Given the description of an element on the screen output the (x, y) to click on. 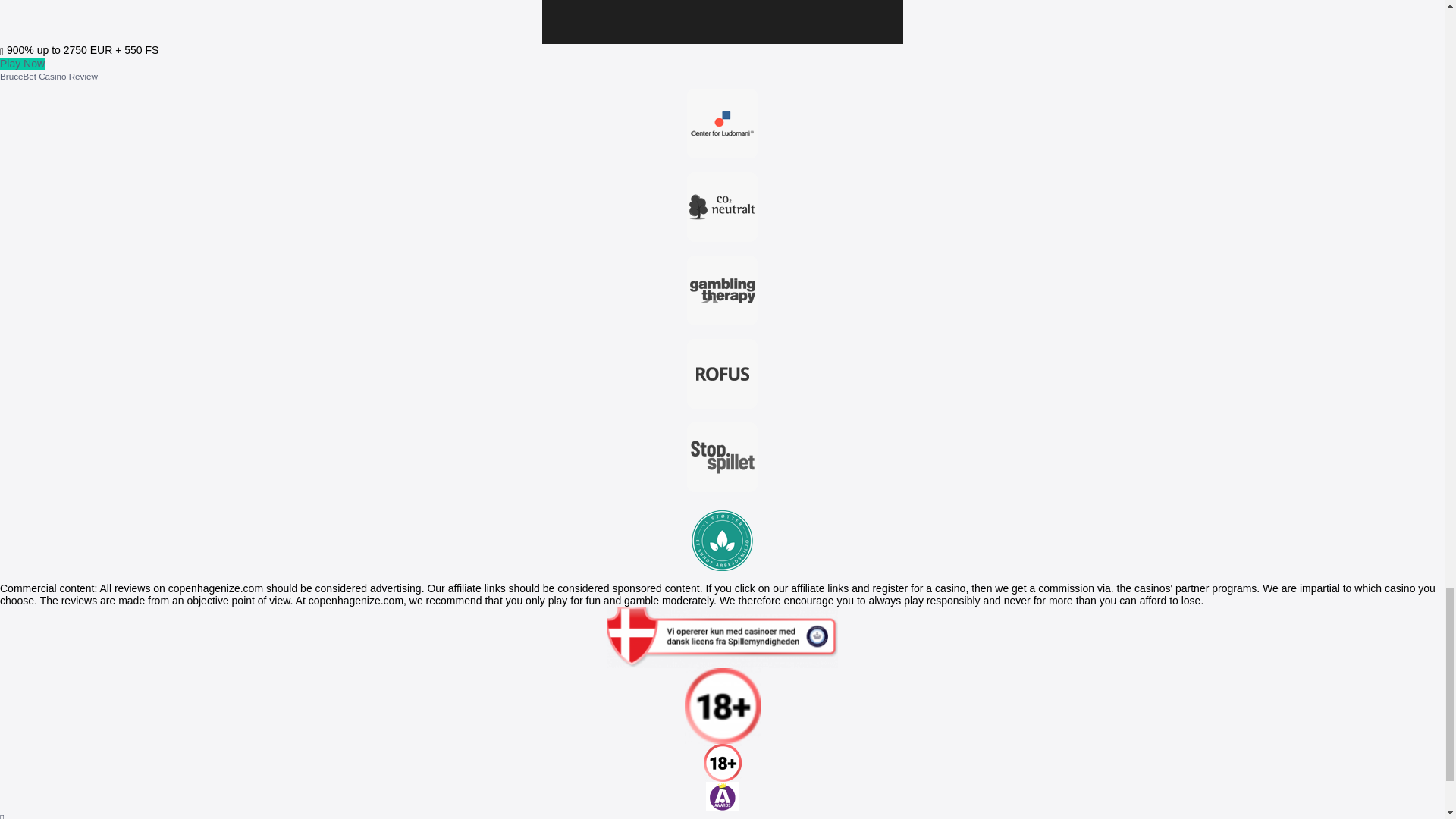
18-plus (721, 796)
18-plus (722, 705)
co2-neutral (722, 206)
sundt-arbejdsmiljo (722, 540)
center-for-ludomani (722, 123)
gambling-therapy (722, 290)
18-plus (722, 637)
rofus (722, 373)
18-plus (722, 762)
stop-spillet (722, 456)
